Given the description of an element on the screen output the (x, y) to click on. 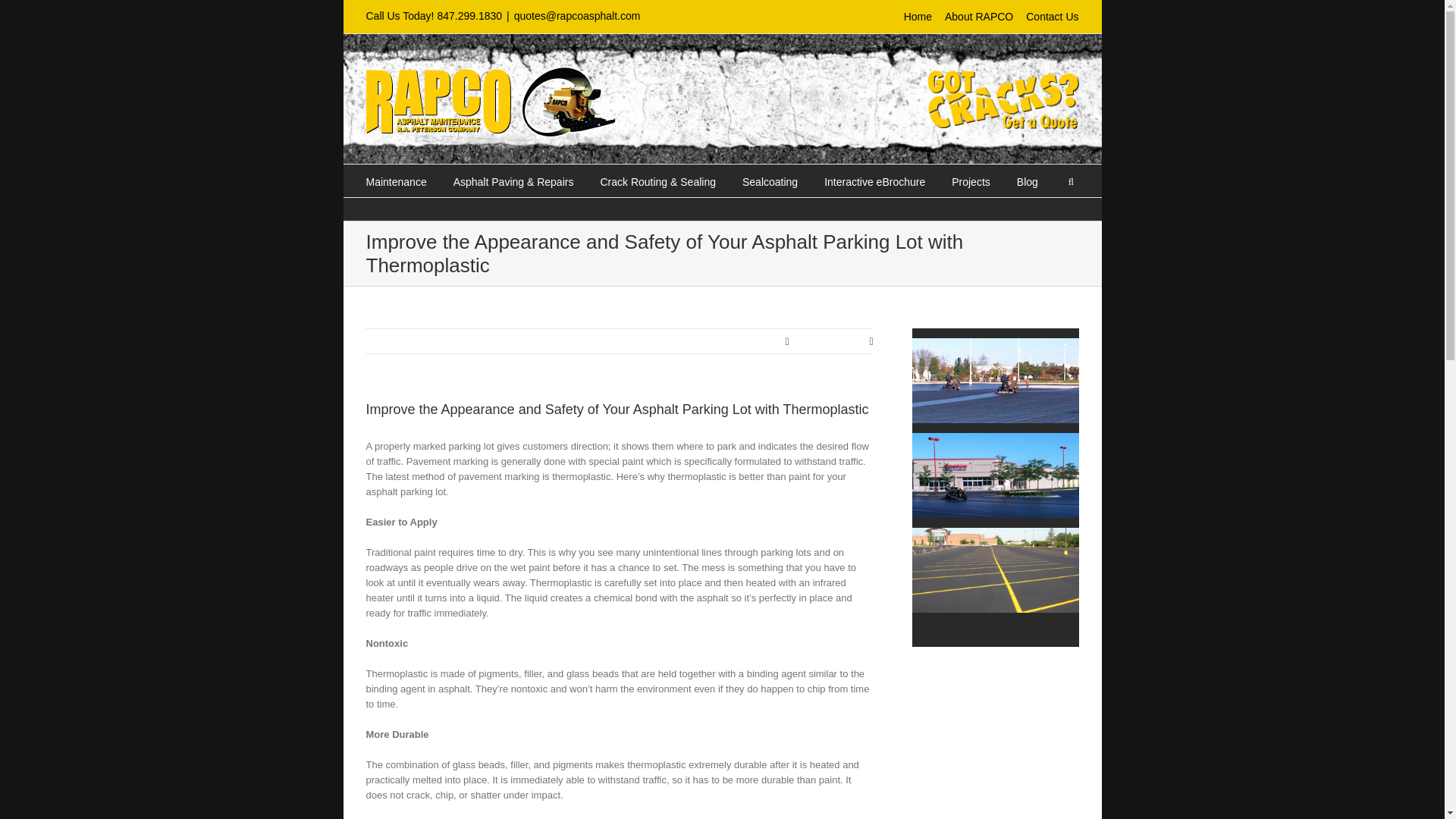
Previous (812, 341)
Maintenance (395, 180)
About RAPCO (978, 16)
Projects (971, 180)
Contact Us (1052, 16)
Home (917, 16)
847.299.1830 (469, 15)
Interactive eBrochure (874, 180)
Contact Us (1002, 77)
Sealcoating (769, 180)
